Given the description of an element on the screen output the (x, y) to click on. 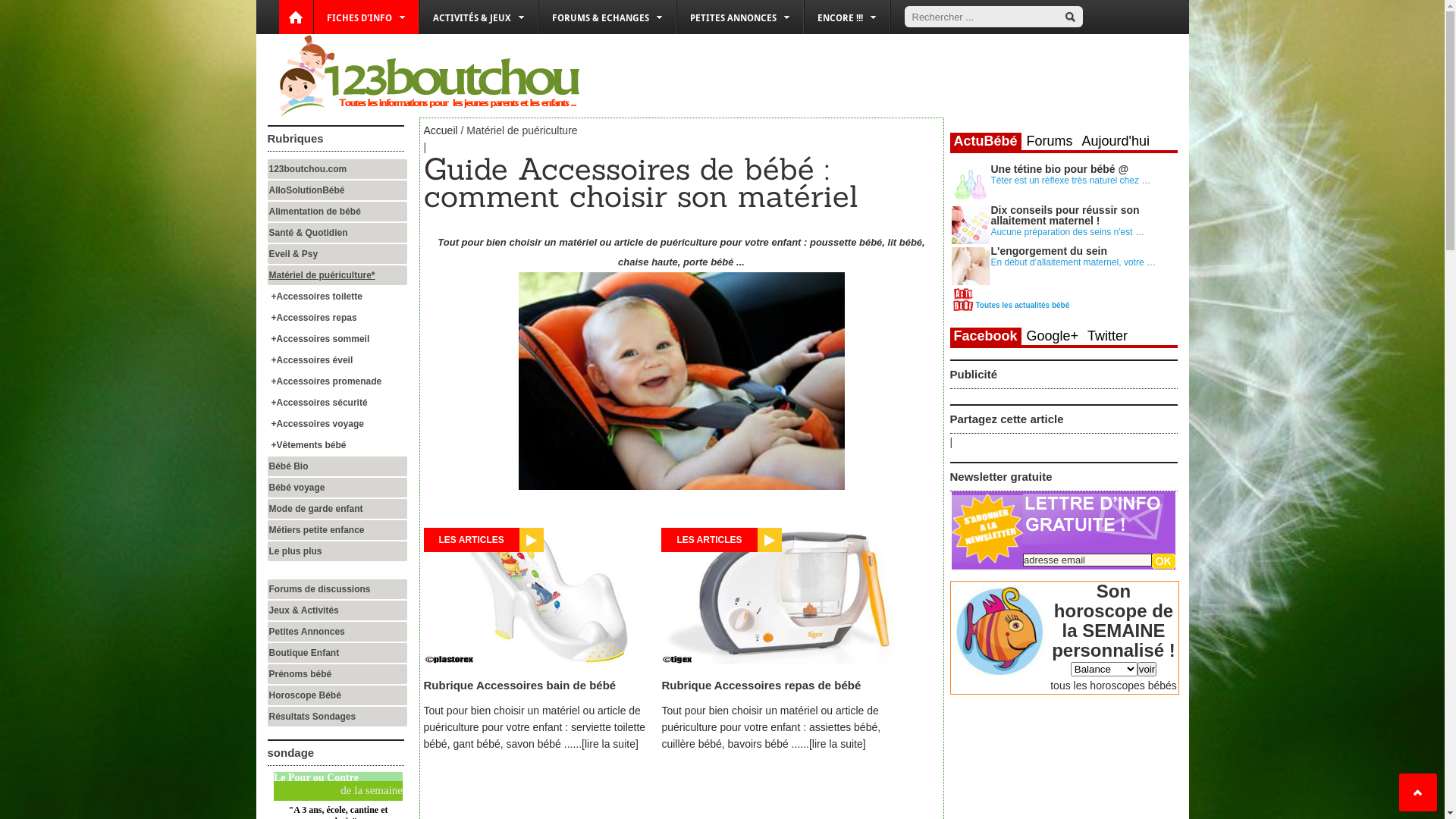
Twitter Element type: text (1107, 335)
Mode de garde enfant Element type: text (336, 508)
Aujourd'hui Element type: text (1116, 140)
+Accessoires sommeil Element type: text (337, 338)
 O K  Element type: text (1163, 560)
+Accessoires promenade Element type: text (337, 381)
Google+ Element type: text (1052, 335)
Boutique Enfant Element type: text (336, 652)
Le plus plus Element type: text (336, 551)
+Accessoires toilette Element type: text (337, 296)
[lire la suite] Element type: text (837, 743)
voir Element type: text (1146, 669)
+Accessoires voyage Element type: text (337, 423)
LES ARTICLES Element type: text (708, 539)
+Accessoires repas Element type: text (337, 317)
FICHES D'INFO Element type: text (366, 17)
PETITES ANNONCES Element type: text (739, 17)
Forums de discussions Element type: text (336, 589)
Forums Element type: text (1049, 140)
[lire la suite] Element type: text (609, 743)
Petites Annonces Element type: text (336, 631)
LES ARTICLES Element type: text (470, 539)
Eveil & Psy Element type: text (336, 253)
FORUMS & ECHANGES Element type: text (606, 17)
ENCORE !!! Element type: text (846, 17)
Facebook Element type: text (984, 336)
Accueil Element type: text (440, 130)
Search Element type: text (1068, 16)
123boutchou.com Element type: text (336, 168)
